Given the description of an element on the screen output the (x, y) to click on. 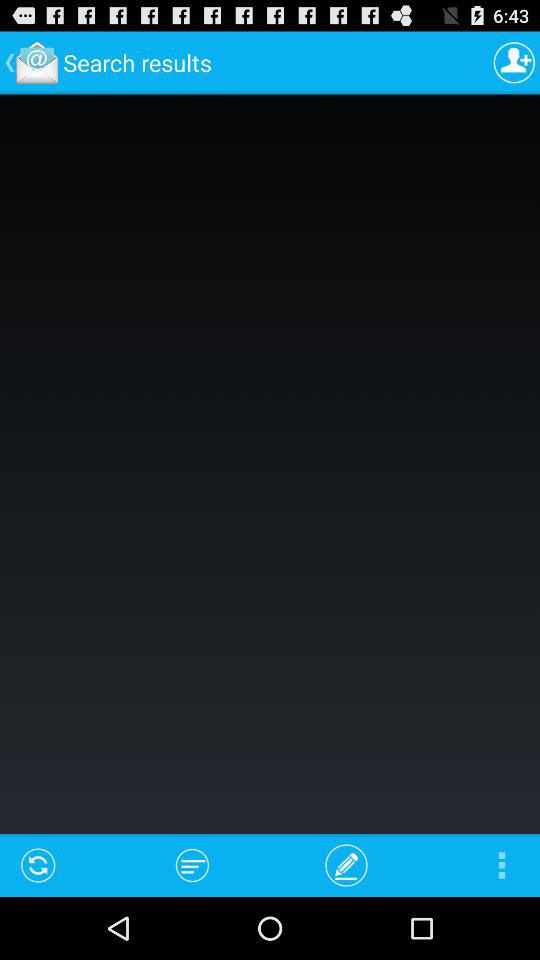
launch icon at the top right corner (514, 62)
